Given the description of an element on the screen output the (x, y) to click on. 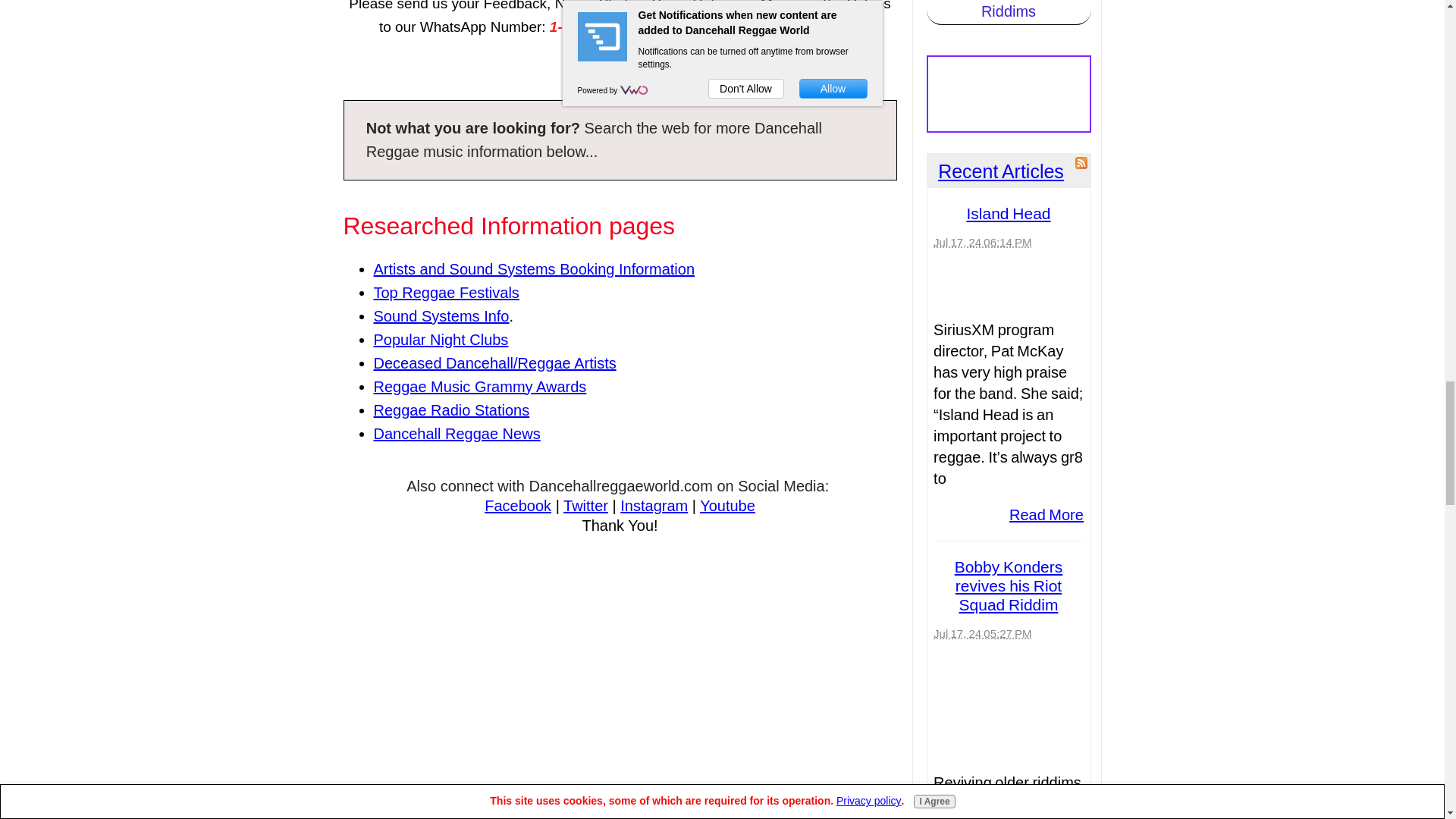
2024-07-17T17:27:33-0400 (981, 633)
Sound Systems Info (440, 315)
Reggae Radio Stations (450, 410)
Reggae Music Grammy Awards (479, 386)
Artists and Sound Systems Booking Information (533, 269)
Popular Night Clubs (440, 339)
Youtube (727, 505)
Twitter (585, 505)
Dancehall Reggae News (456, 433)
Instagram (653, 505)
2024-07-17T18:14:25-0400 (981, 241)
Top Reggae Festivals (445, 292)
Facebook (517, 505)
